Given the description of an element on the screen output the (x, y) to click on. 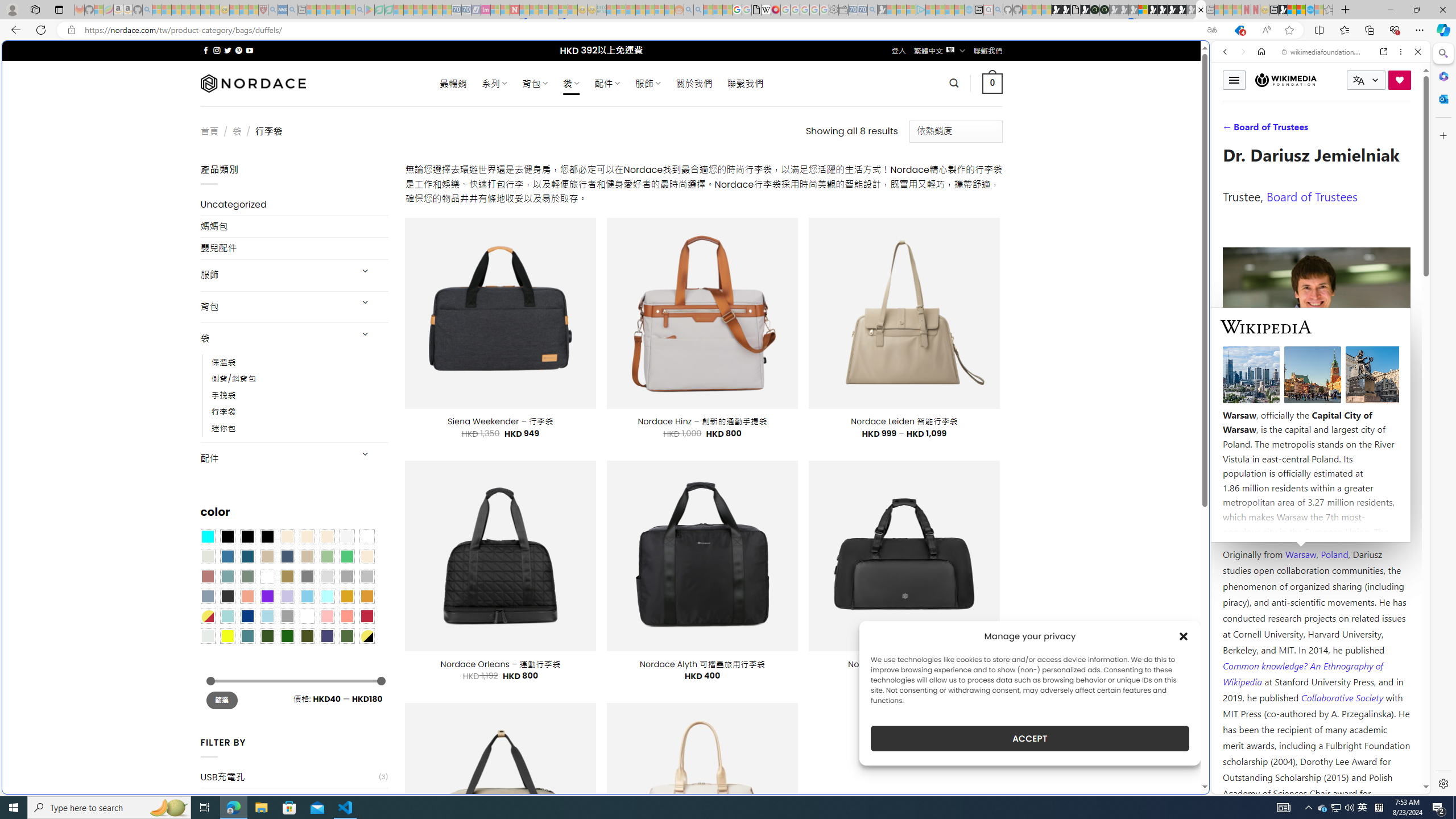
Cream (327, 536)
